Given the description of an element on the screen output the (x, y) to click on. 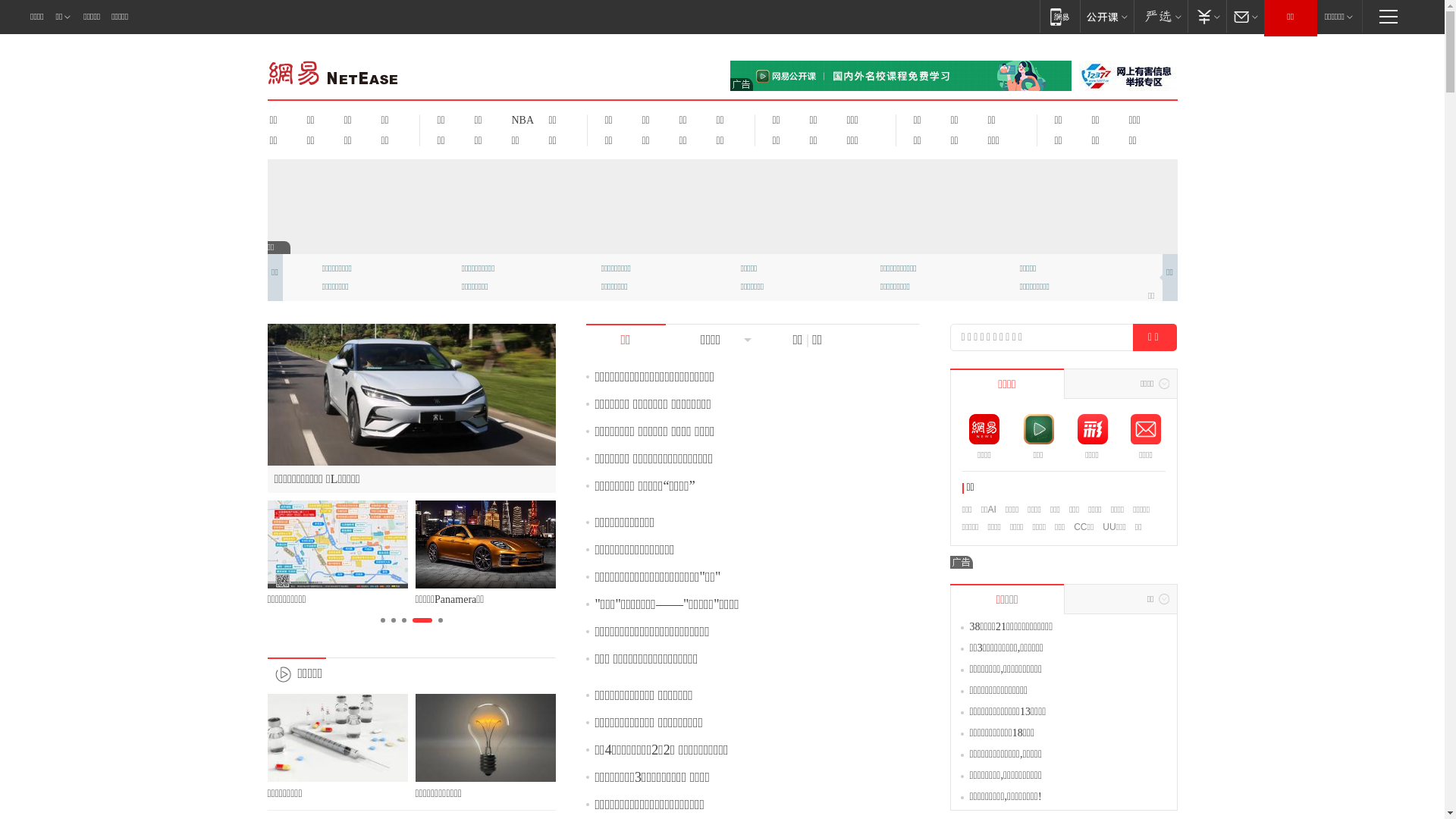
NBA Element type: text (520, 119)
